Given the description of an element on the screen output the (x, y) to click on. 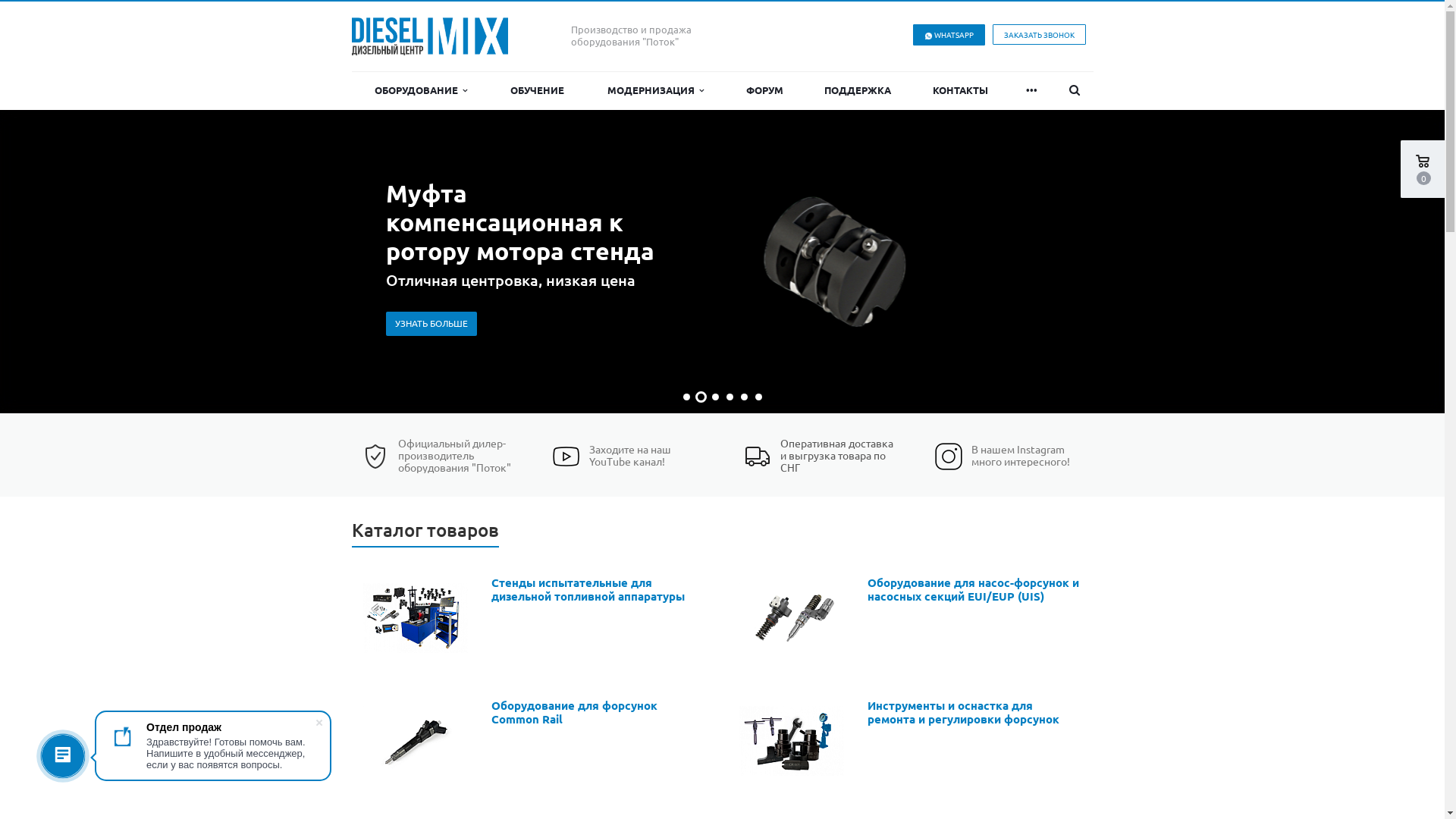
3 Element type: text (714, 396)
2 Element type: text (700, 396)
6 Element type: text (758, 396)
4 Element type: text (729, 396)
... Element type: text (1031, 90)
1 Element type: text (686, 396)
WHATSAPP Element type: text (949, 34)
5 Element type: text (743, 396)
